Given the description of an element on the screen output the (x, y) to click on. 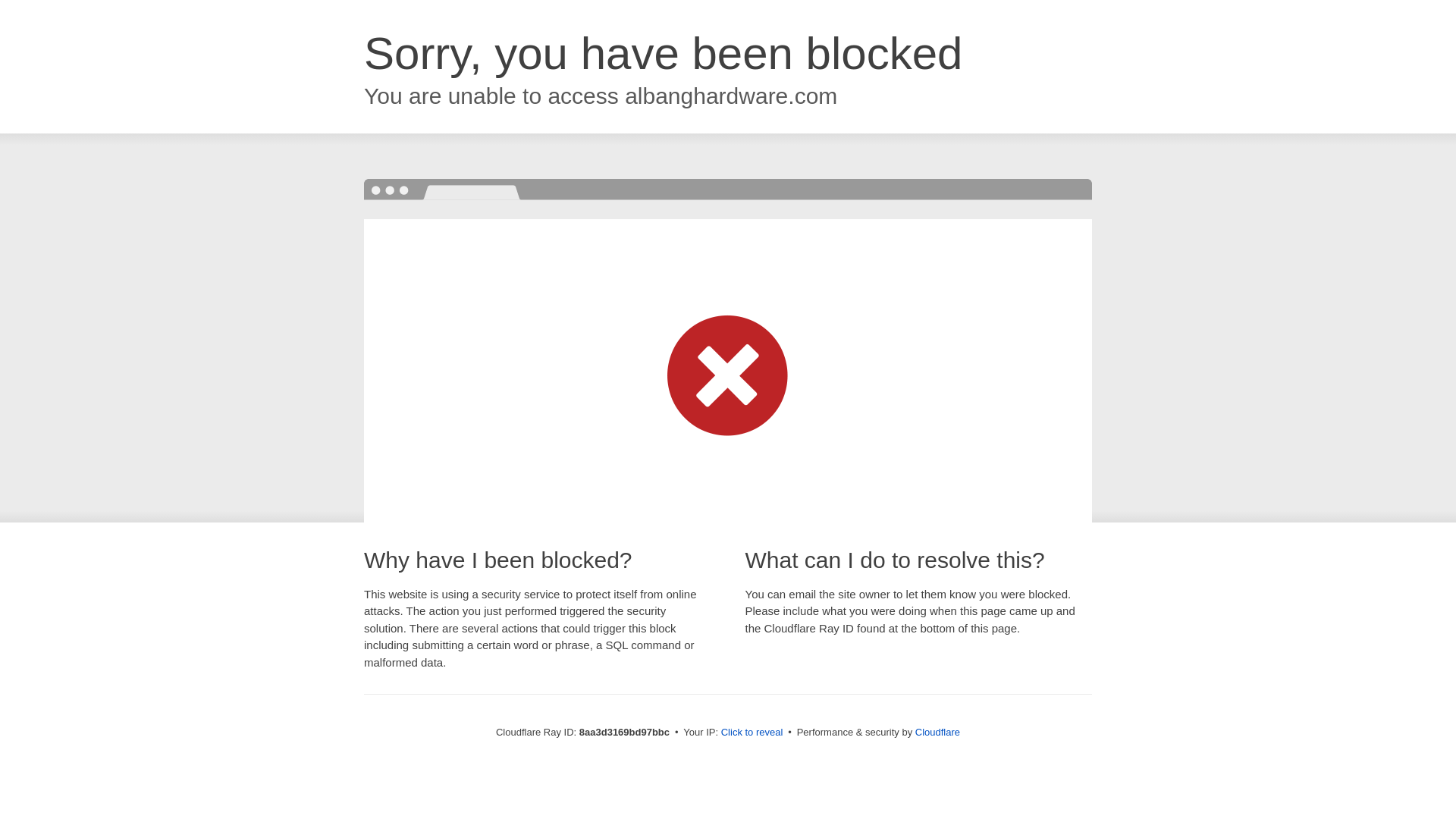
Cloudflare (937, 731)
Click to reveal (751, 732)
